Given the description of an element on the screen output the (x, y) to click on. 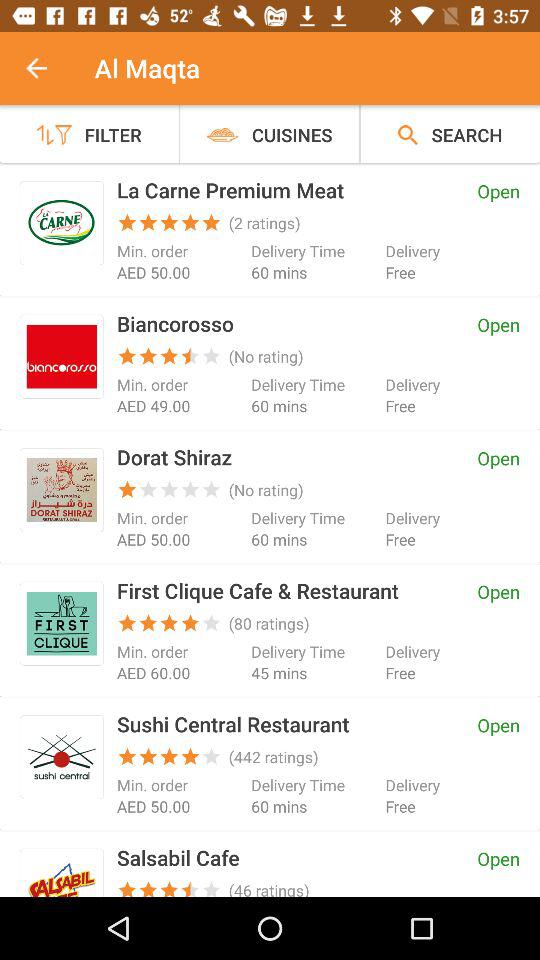
select logo (61, 756)
